Given the description of an element on the screen output the (x, y) to click on. 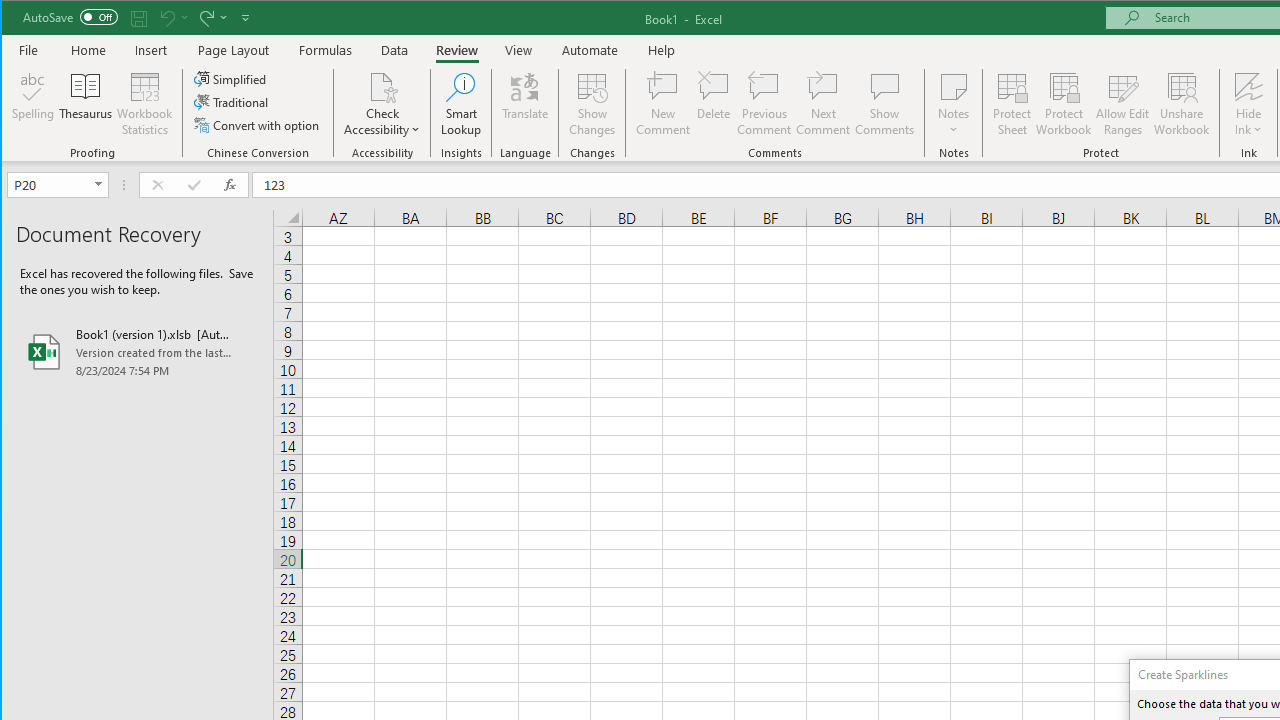
Show Changes (592, 104)
Delete (713, 104)
Allow Edit Ranges (1123, 104)
Workbook Statistics (145, 104)
Thesaurus... (86, 104)
